Given the description of an element on the screen output the (x, y) to click on. 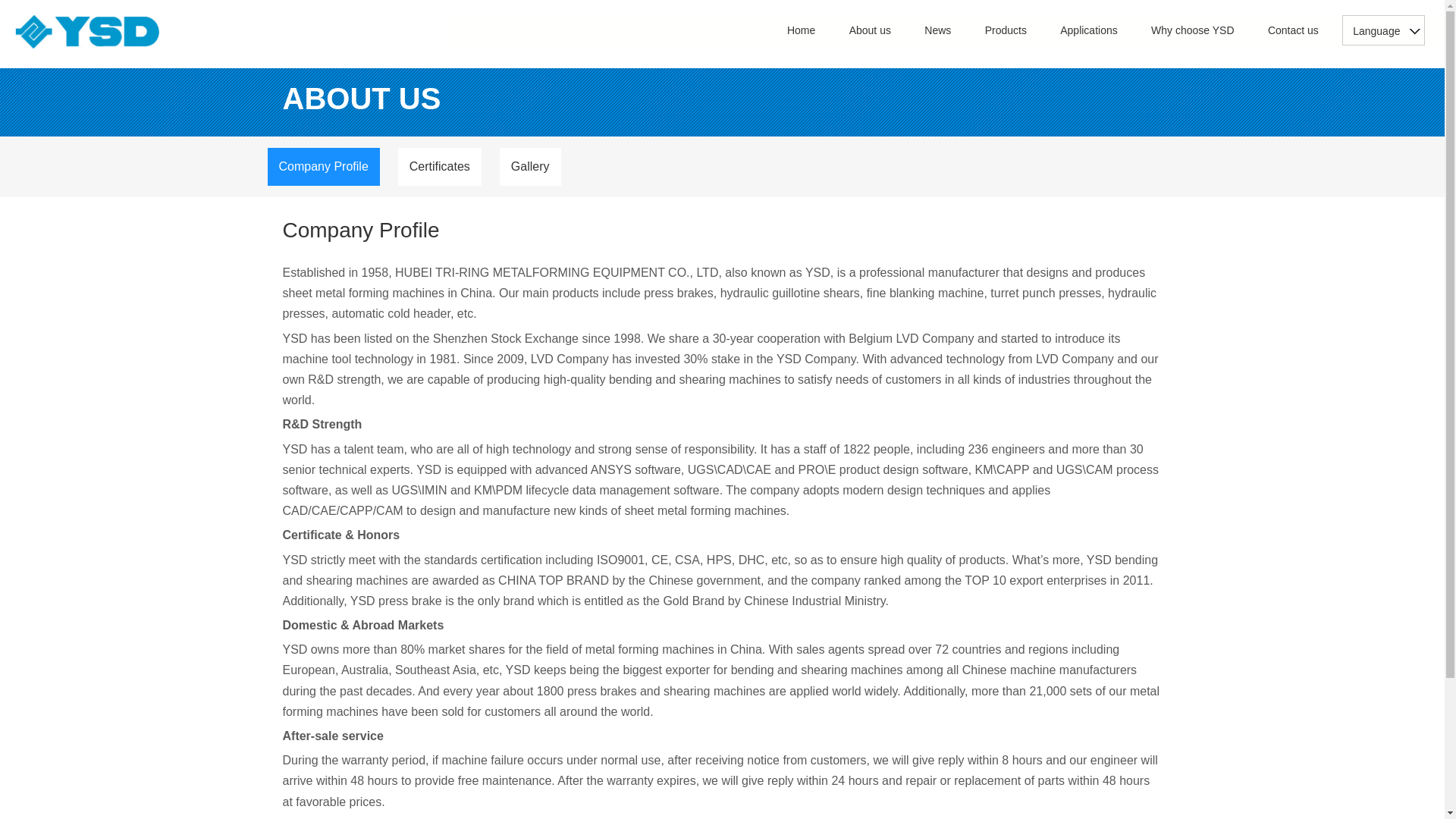
Products (1005, 30)
News (937, 30)
YSD (86, 31)
Why choose YSD (1192, 30)
Home (801, 30)
Applications (1088, 30)
About us (869, 30)
